Given the description of an element on the screen output the (x, y) to click on. 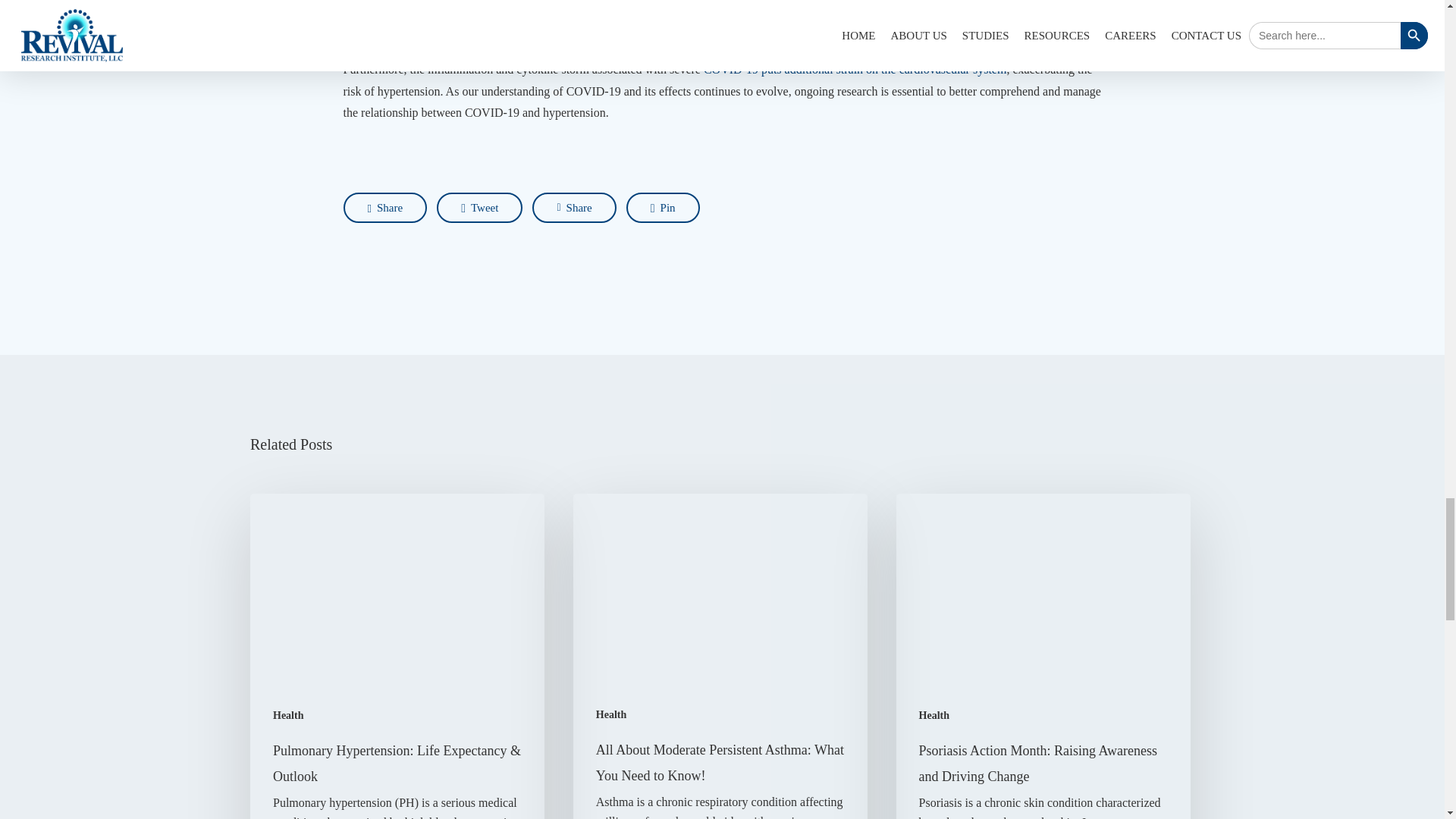
Share this (384, 207)
Share this (573, 207)
Tweet this (479, 207)
Pin this (663, 207)
